Given the description of an element on the screen output the (x, y) to click on. 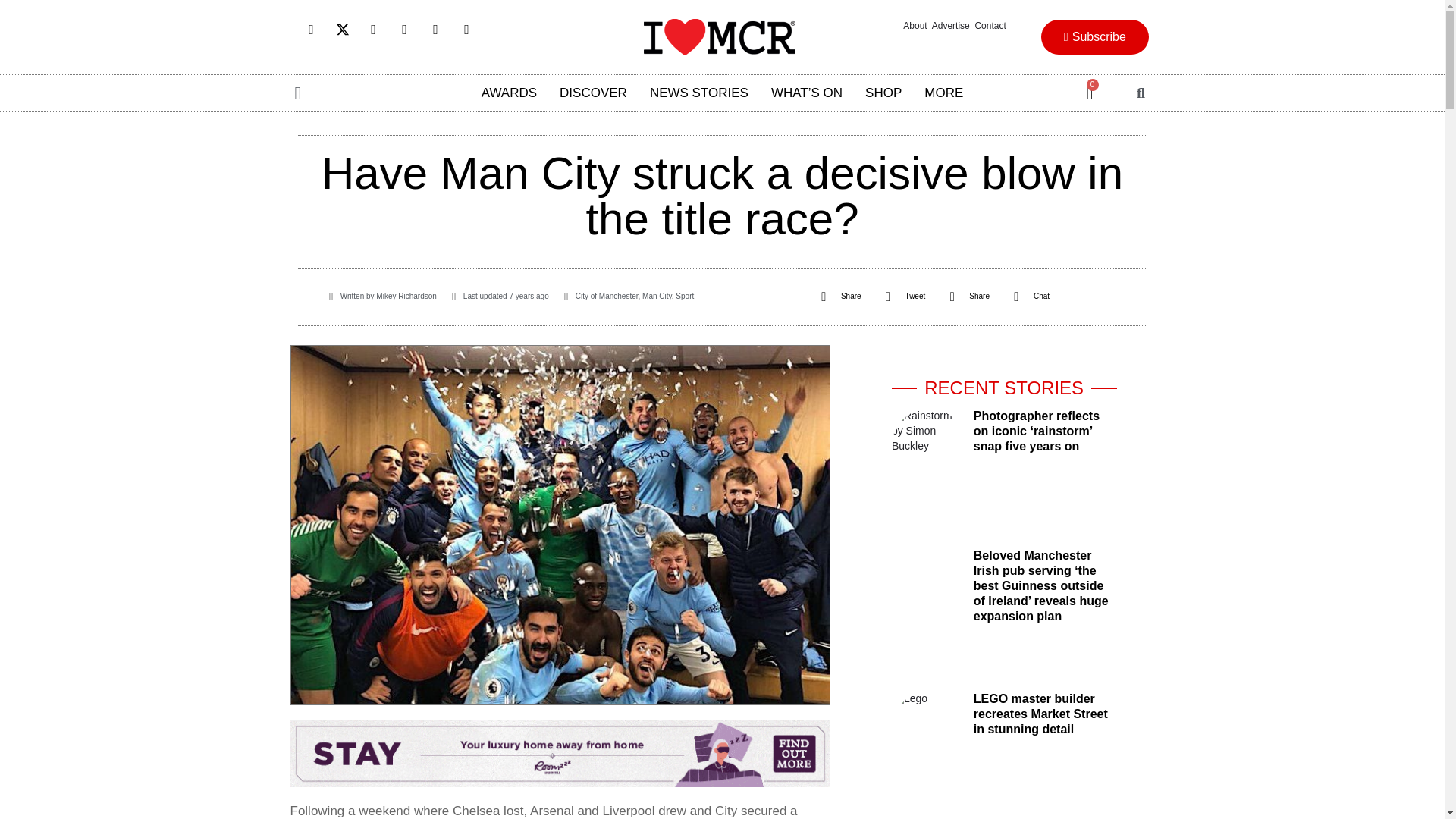
NEWS STORIES (699, 93)
ilovemcr-website-logo 544 (718, 36)
Contact (990, 25)
Subscribe (1094, 36)
AWARDS (509, 93)
About (914, 25)
Advertise (950, 25)
DISCOVER (593, 93)
